Given the description of an element on the screen output the (x, y) to click on. 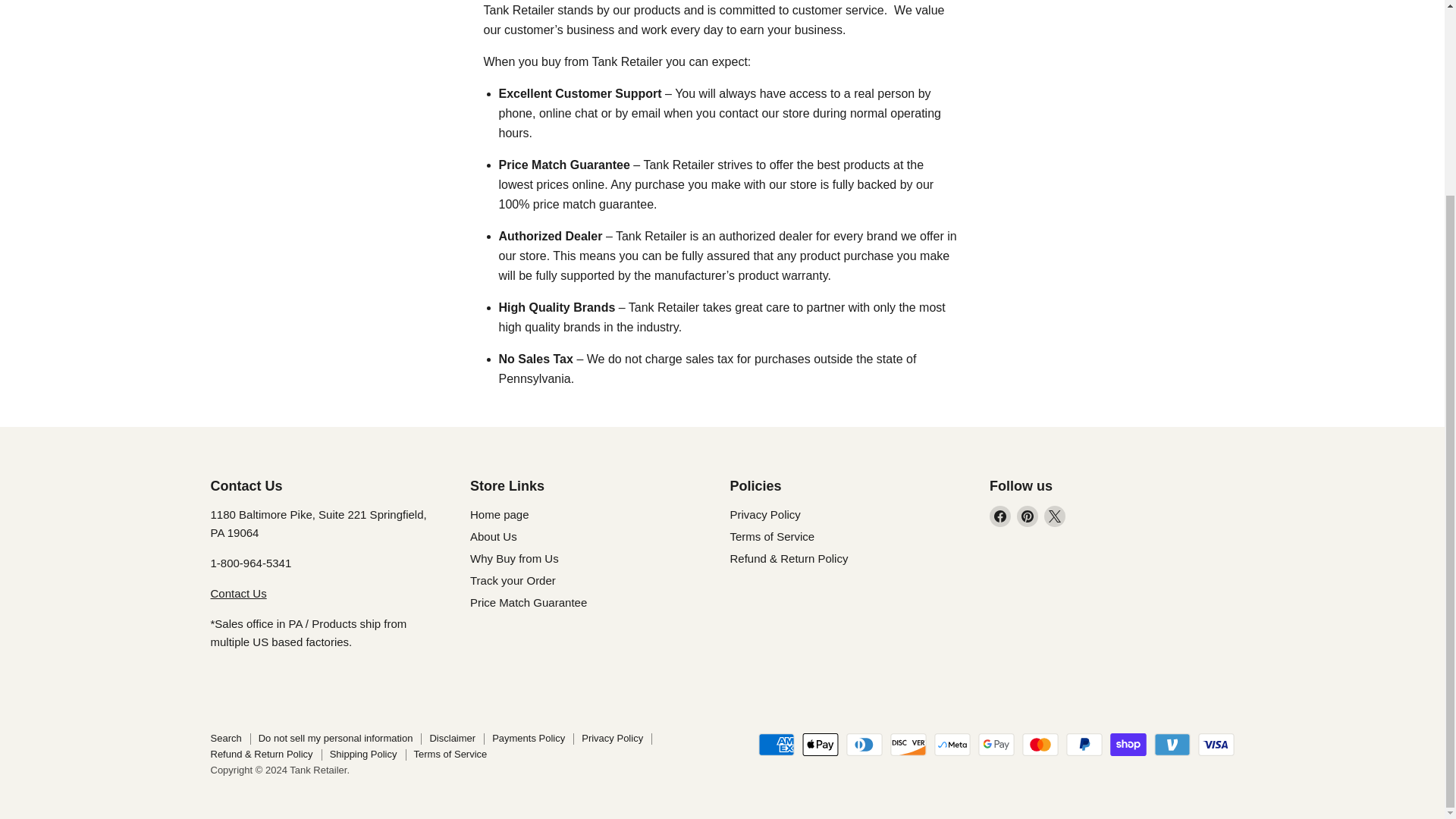
PayPal (1083, 744)
Contact (238, 593)
Google Pay (996, 744)
Discover (907, 744)
Apple Pay (820, 744)
Facebook (1000, 516)
Pinterest (1027, 516)
Diners Club (863, 744)
X (1054, 516)
American Express (776, 744)
Meta Pay (952, 744)
Mastercard (1040, 744)
